Given the description of an element on the screen output the (x, y) to click on. 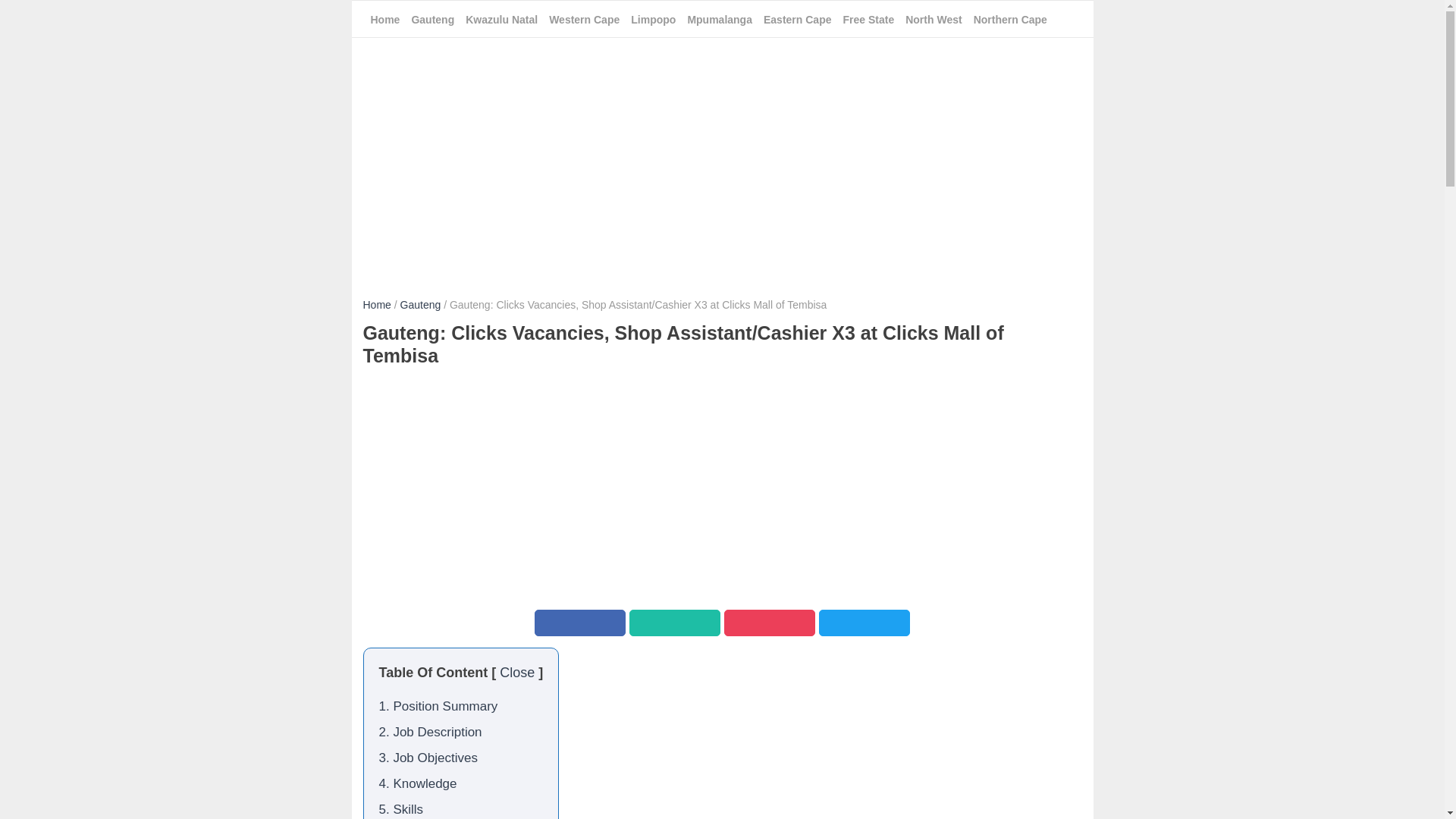
Limpopo (652, 19)
1. Position Summary (437, 706)
Home (376, 304)
North West (932, 19)
Gauteng (420, 304)
Northern Cape (1010, 19)
Mpumalanga (719, 19)
3. Job Objectives (427, 757)
Close (516, 672)
4. Knowledge (417, 783)
